Given the description of an element on the screen output the (x, y) to click on. 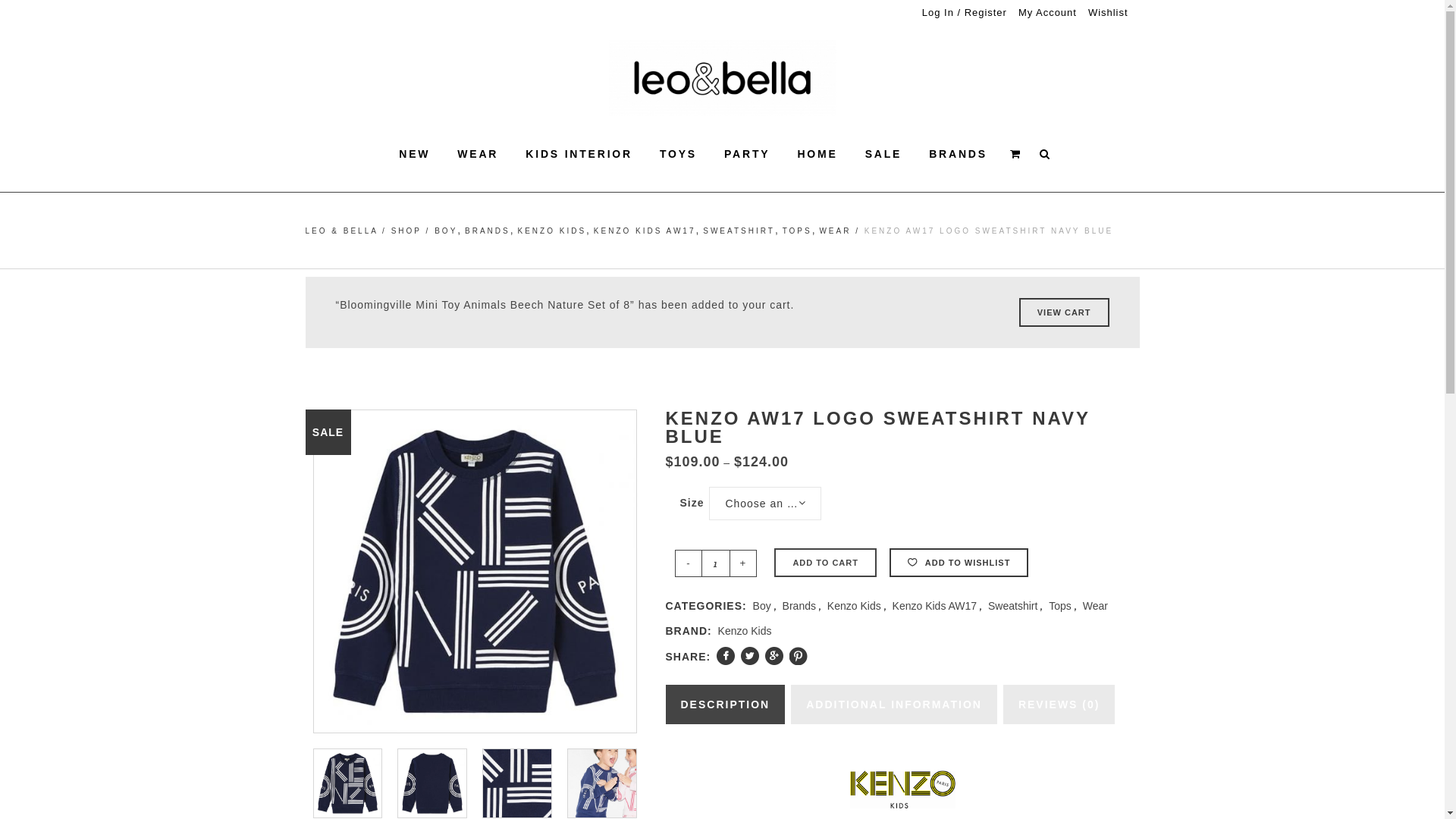
SHOP Element type: text (406, 230)
KENZO KIDS Element type: text (551, 230)
Share on Pinterest Element type: hover (798, 655)
Kenzo Kids Element type: text (744, 630)
Kenzo Kids AW17 Element type: text (934, 605)
NEW Element type: text (414, 153)
Kenzo Kids Element type: text (854, 605)
Brands Element type: text (798, 605)
SALE Element type: text (883, 153)
BRANDS Element type: text (487, 230)
ADD TO CART Element type: text (825, 562)
TOYS Element type: text (678, 153)
L76K15538G02.76_P_01_clipped_rev_1 Element type: hover (347, 783)
SWEATSHIRT Element type: text (738, 230)
Log In / Register Element type: text (958, 12)
Sweatshirt Element type: text (1012, 605)
VIEW CART Element type: text (1064, 312)
Wear Element type: text (1094, 605)
Import Element type: text (1124, 1)
Share on Twitter Element type: hover (749, 655)
WEAR Element type: text (477, 153)
L76K15538G02.76_P_01_clipped_rev_1 Element type: hover (474, 571)
Share on Facebook Element type: hover (725, 655)
REVIEWS (0) Element type: text (1059, 704)
Qty Element type: hover (715, 562)
TOPS Element type: text (797, 230)
L76K15538G02.76_P_03_clipped_rev_1 Element type: hover (432, 783)
L76K15538G02.76_F_01 Element type: hover (601, 783)
Wishlist Element type: text (1102, 12)
KIDS INTERIOR Element type: text (578, 153)
L76K15538G02.76_P_02 Element type: hover (517, 783)
ADD TO WISHLIST Element type: text (959, 562)
KENZO KIDS AW17 Element type: text (644, 230)
ADDITIONAL INFORMATION Element type: text (893, 704)
My Account Element type: text (1041, 12)
BOY Element type: text (445, 230)
Tops Element type: text (1059, 605)
HOME Element type: text (816, 153)
DESCRIPTION Element type: text (725, 704)
Boy Element type: text (762, 605)
LEO & BELLA Element type: text (340, 230)
WEAR Element type: text (834, 230)
Share on Google+ Element type: hover (774, 655)
PARTY Element type: text (746, 153)
BRANDS Element type: text (958, 153)
